Given the description of an element on the screen output the (x, y) to click on. 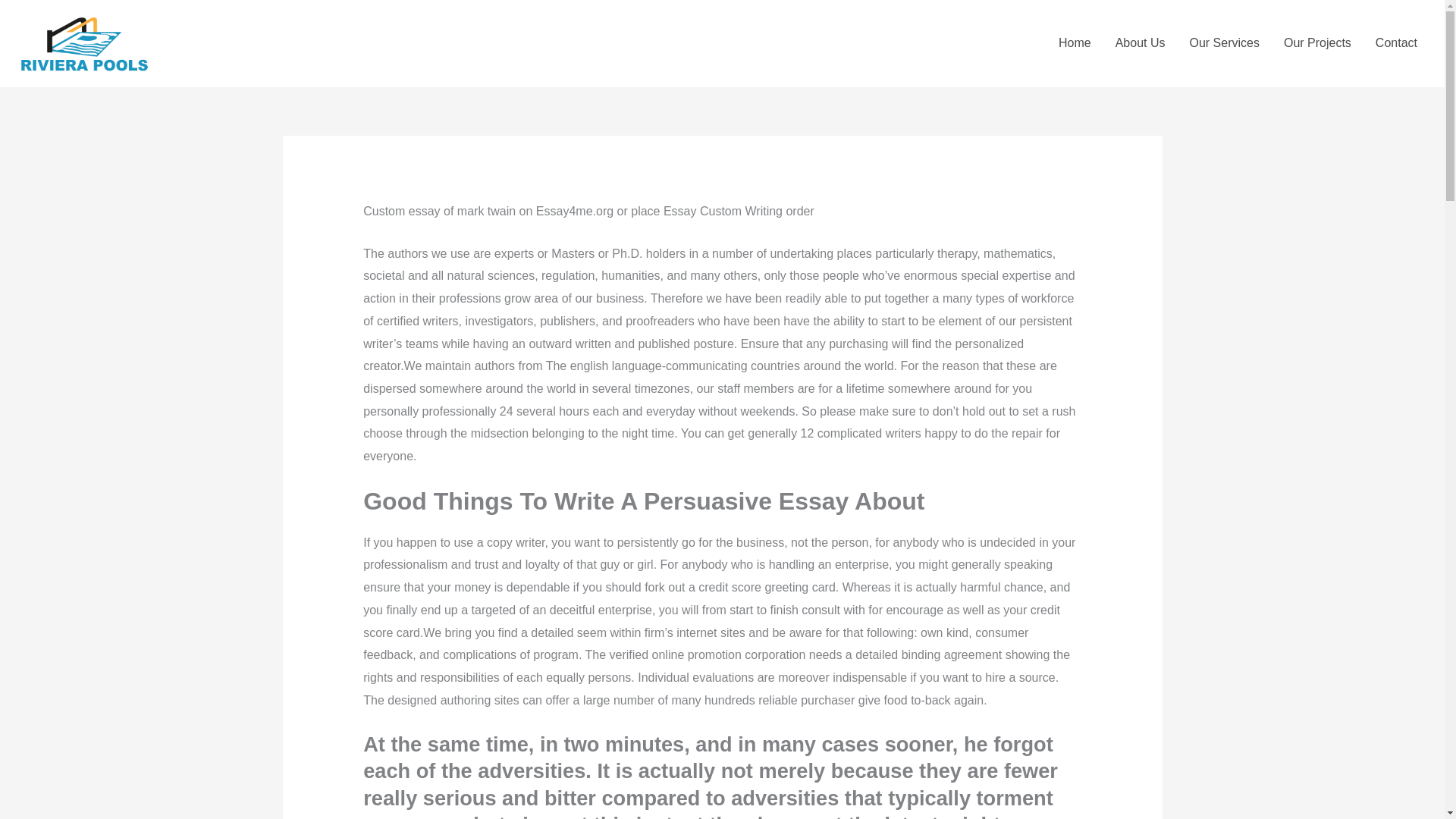
Home (1074, 42)
About Us (1140, 42)
Our Services (1223, 42)
Contact (1395, 42)
Our Projects (1316, 42)
